Given the description of an element on the screen output the (x, y) to click on. 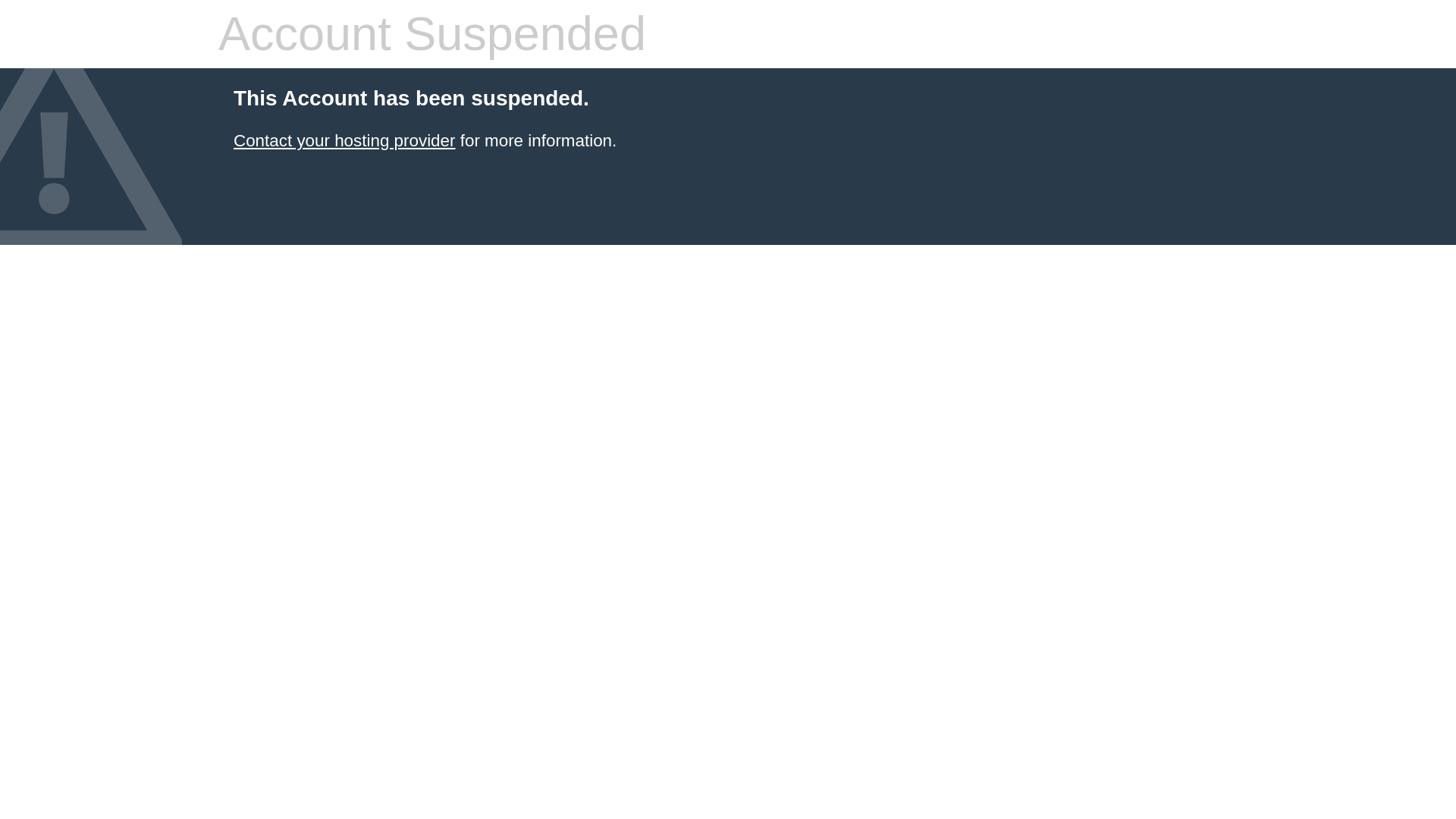
Contact your hosting provider (343, 140)
